Given the description of an element on the screen output the (x, y) to click on. 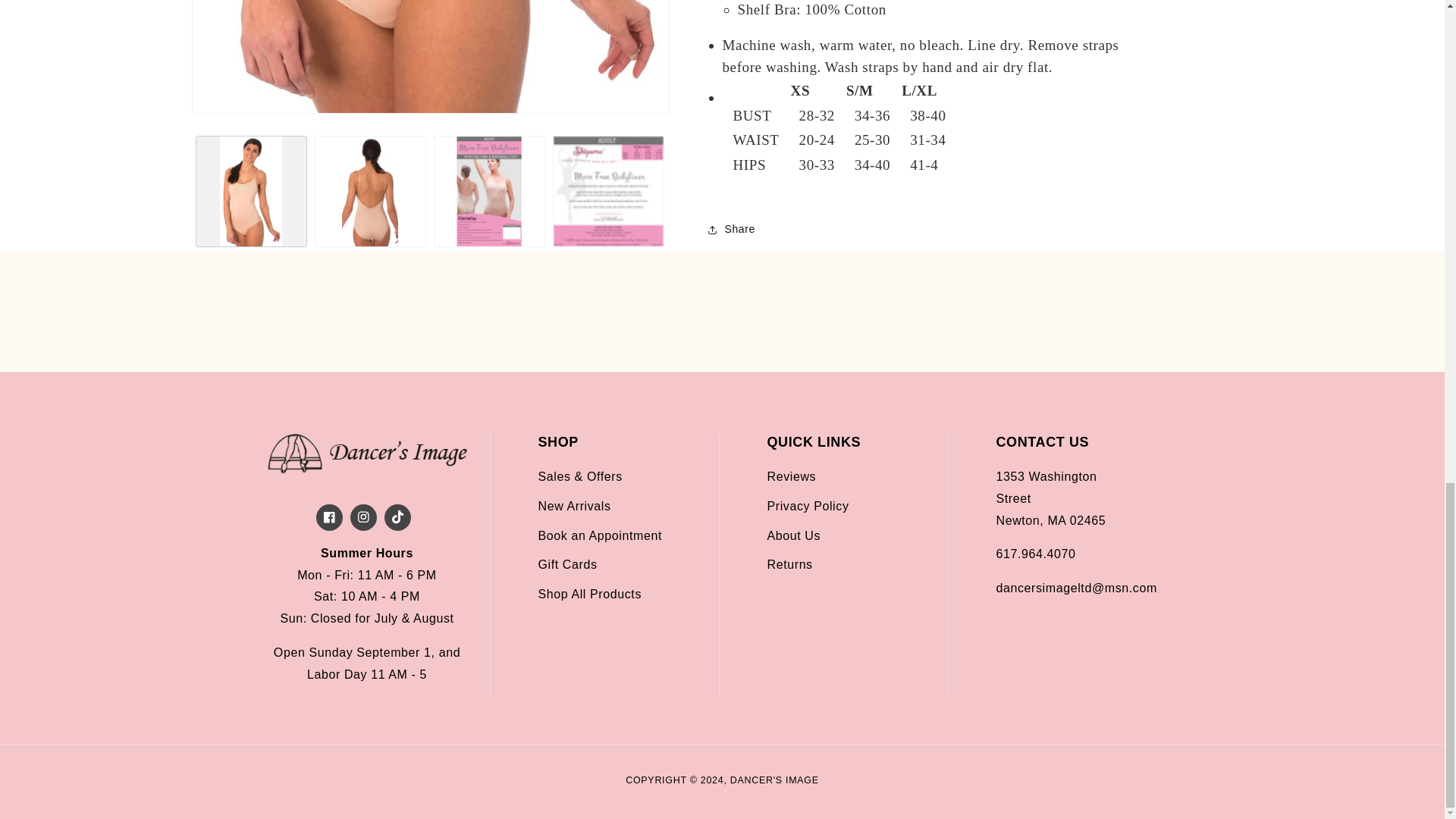
tel:6179644070 (1035, 553)
